Given the description of an element on the screen output the (x, y) to click on. 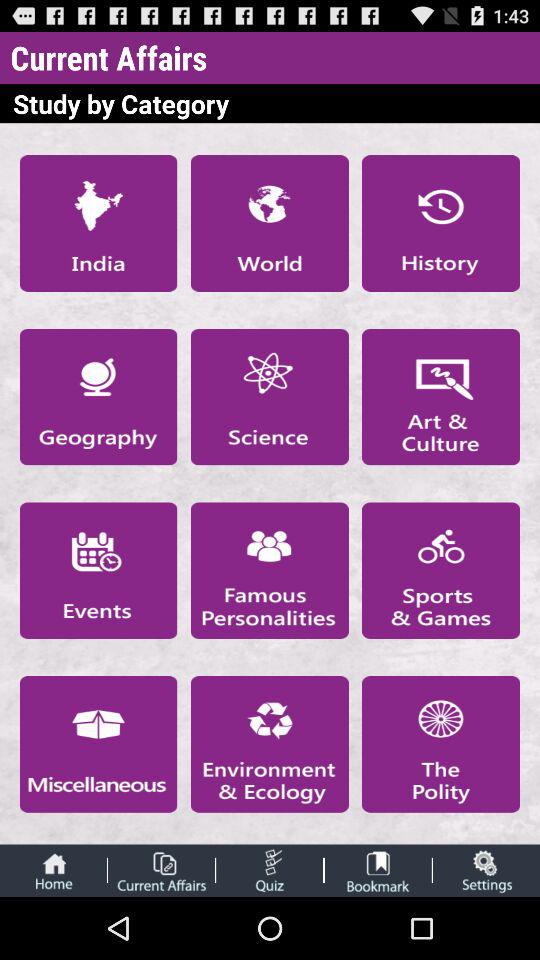
choose category (98, 223)
